Given the description of an element on the screen output the (x, y) to click on. 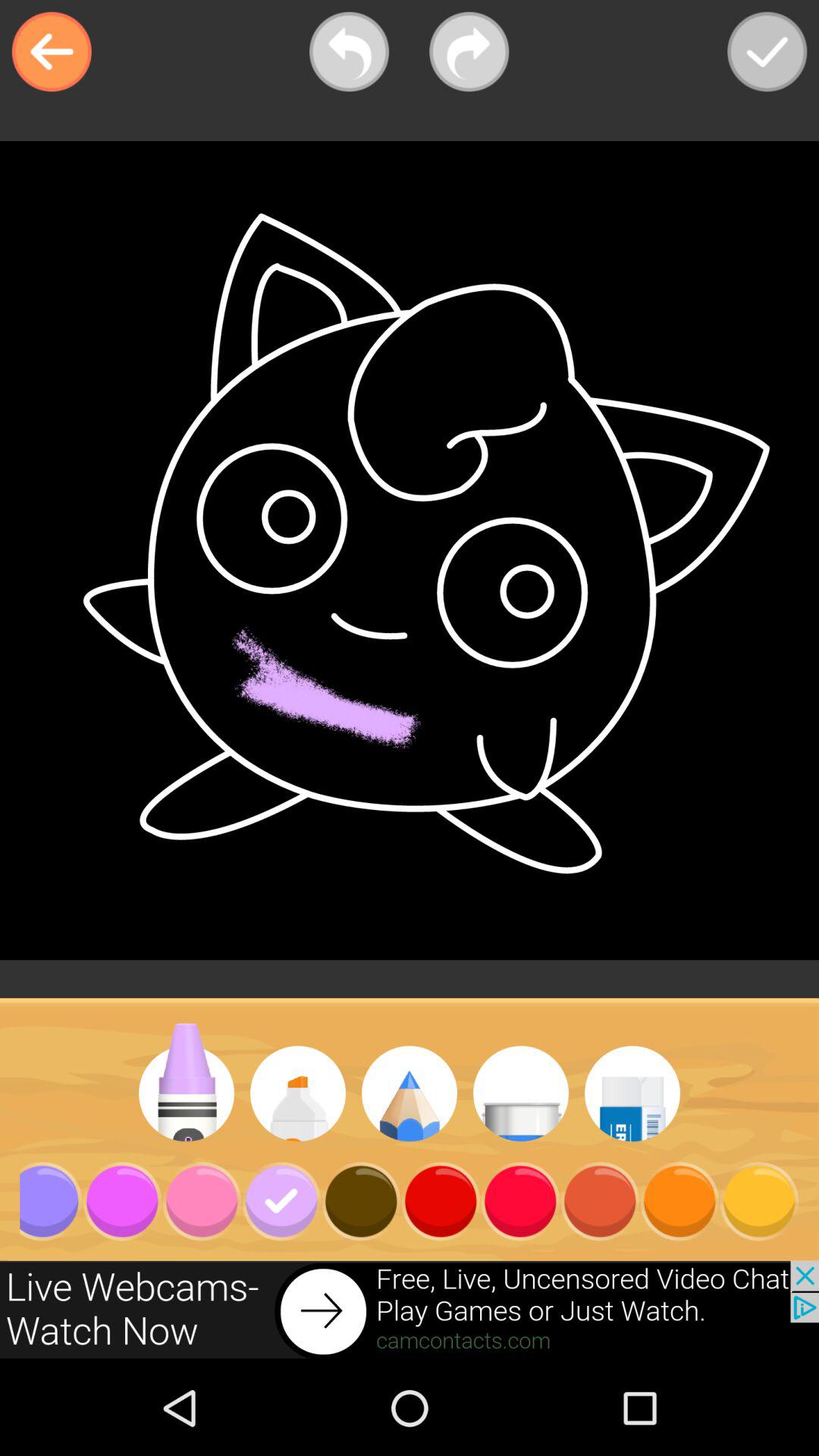
go do selakt (767, 51)
